Given the description of an element on the screen output the (x, y) to click on. 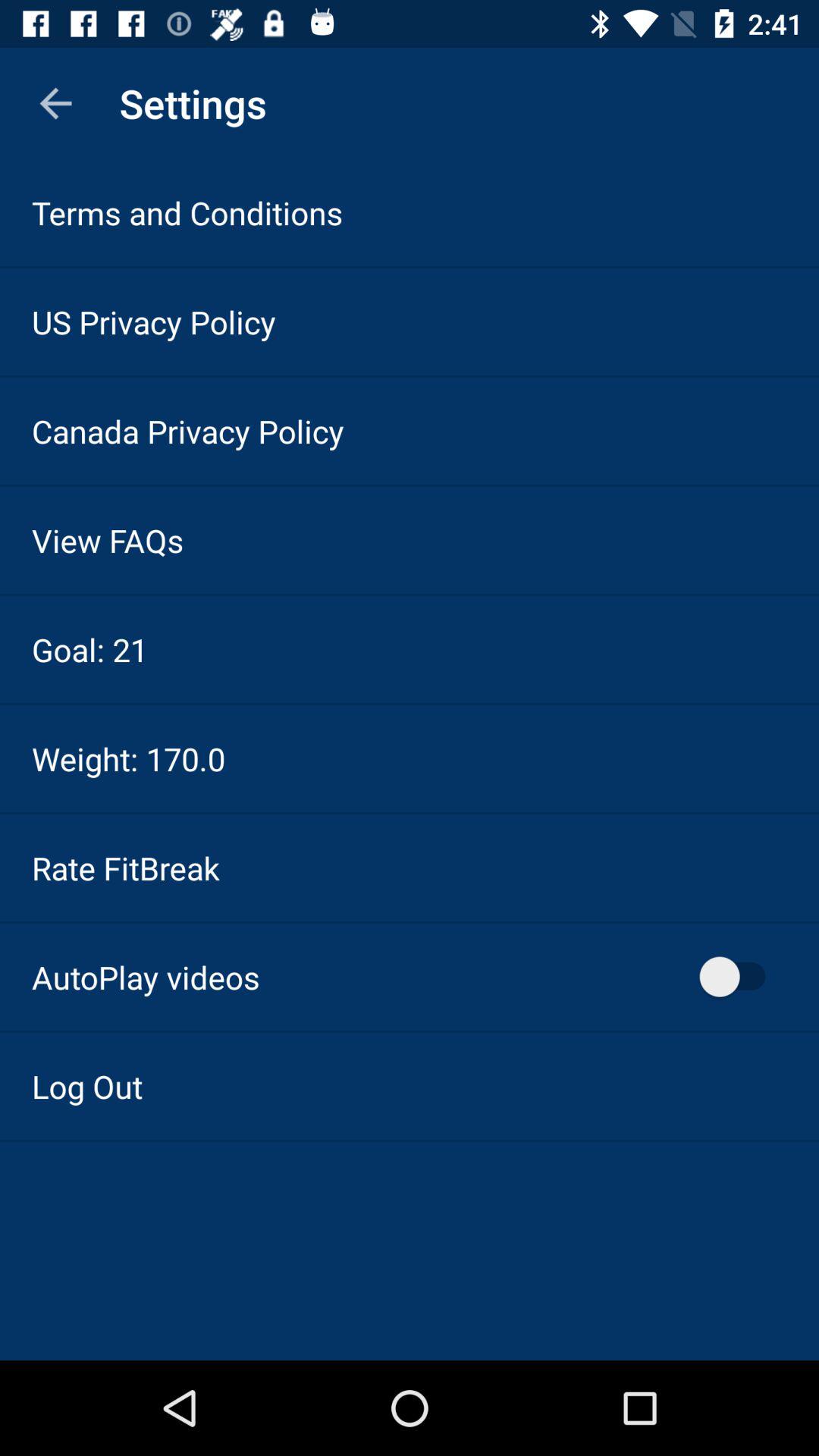
turn on the icon at the bottom right corner (739, 976)
